Given the description of an element on the screen output the (x, y) to click on. 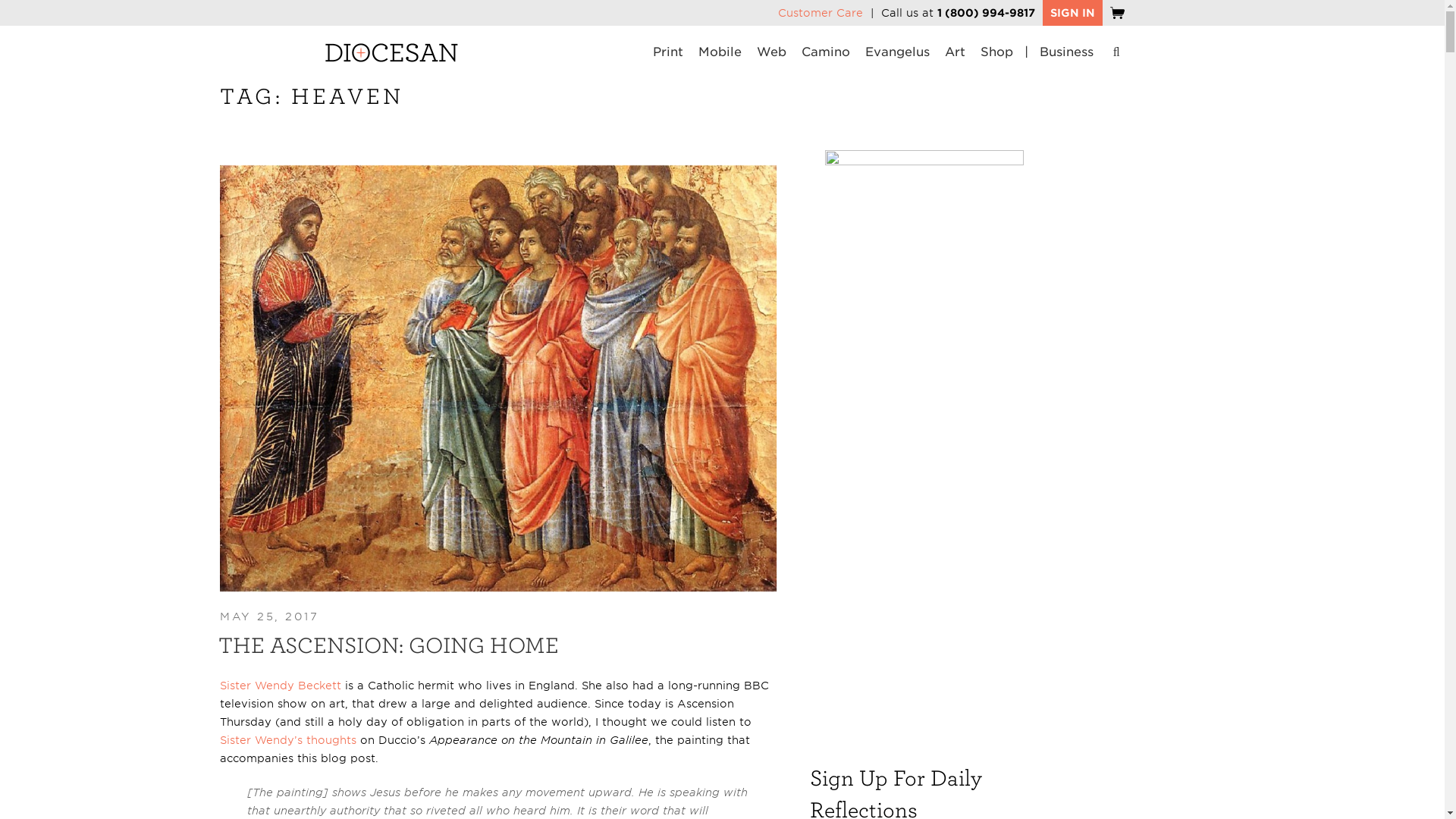
SIGN IN (1072, 12)
Web (771, 52)
Mobile (719, 52)
Print (667, 52)
Customer Care (820, 12)
